Given the description of an element on the screen output the (x, y) to click on. 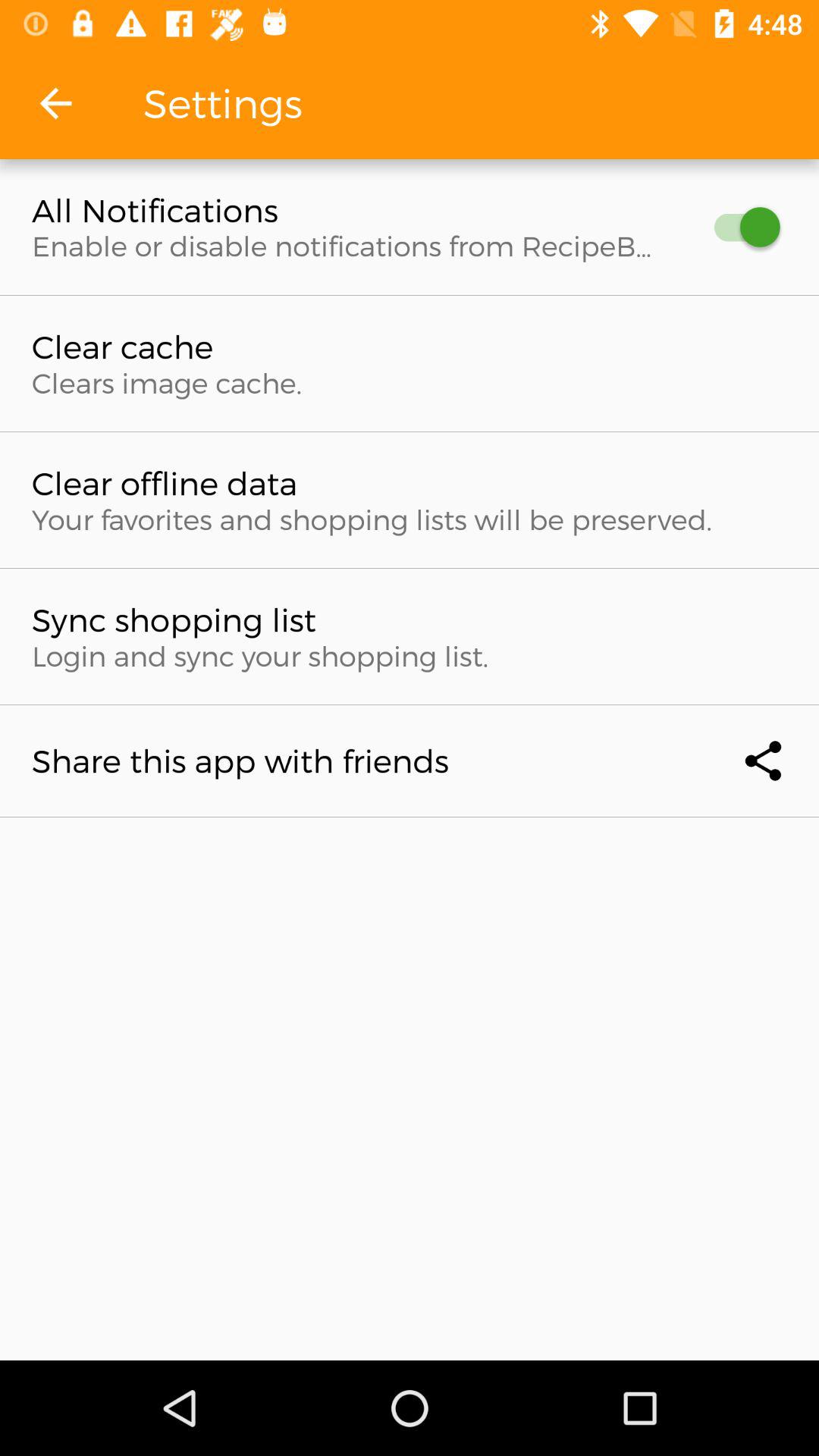
tap the app next to the settings item (55, 103)
